Given the description of an element on the screen output the (x, y) to click on. 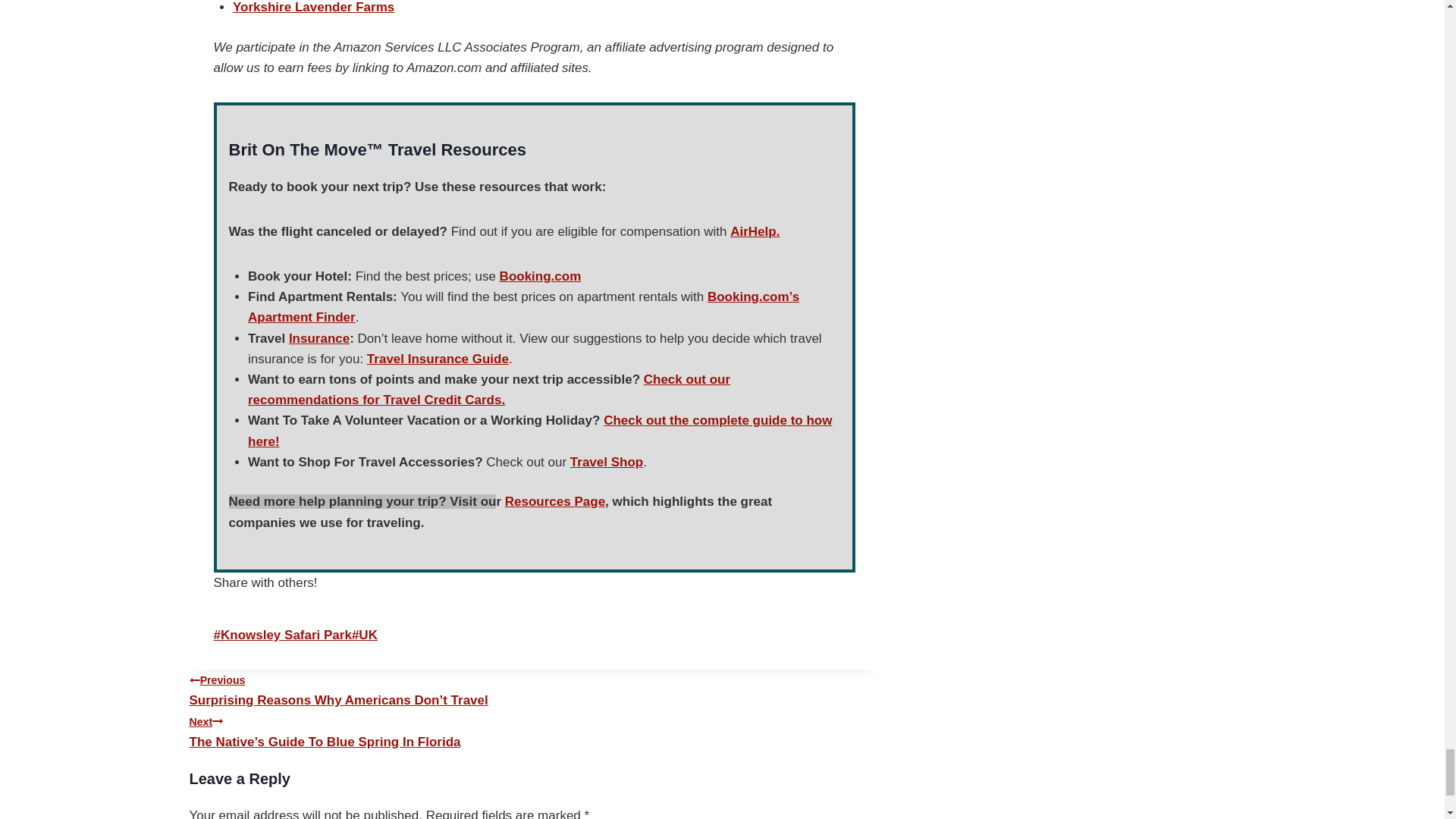
Insurance (318, 338)
UK (364, 635)
Knowsley Safari Park (283, 635)
